Given the description of an element on the screen output the (x, y) to click on. 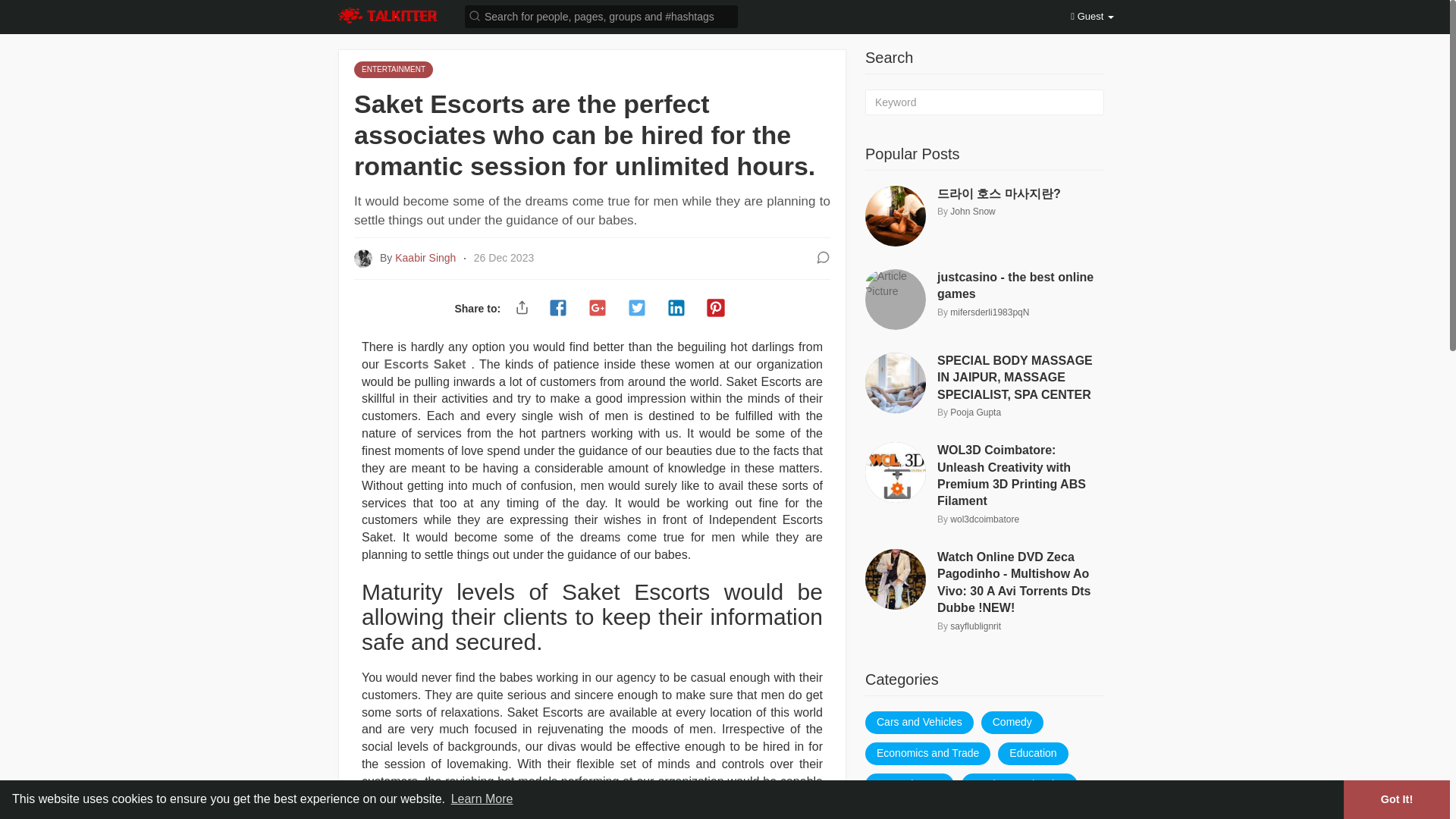
John Snow (972, 211)
Guest (1091, 17)
Learn More (481, 798)
Escorts Saket (424, 364)
Kaabir Singh (426, 257)
Linkedin (676, 308)
Facebook (557, 308)
Escorts Saket (424, 364)
Twitter (636, 308)
Pinterest (715, 308)
ENTERTAINMENT (392, 68)
